Given the description of an element on the screen output the (x, y) to click on. 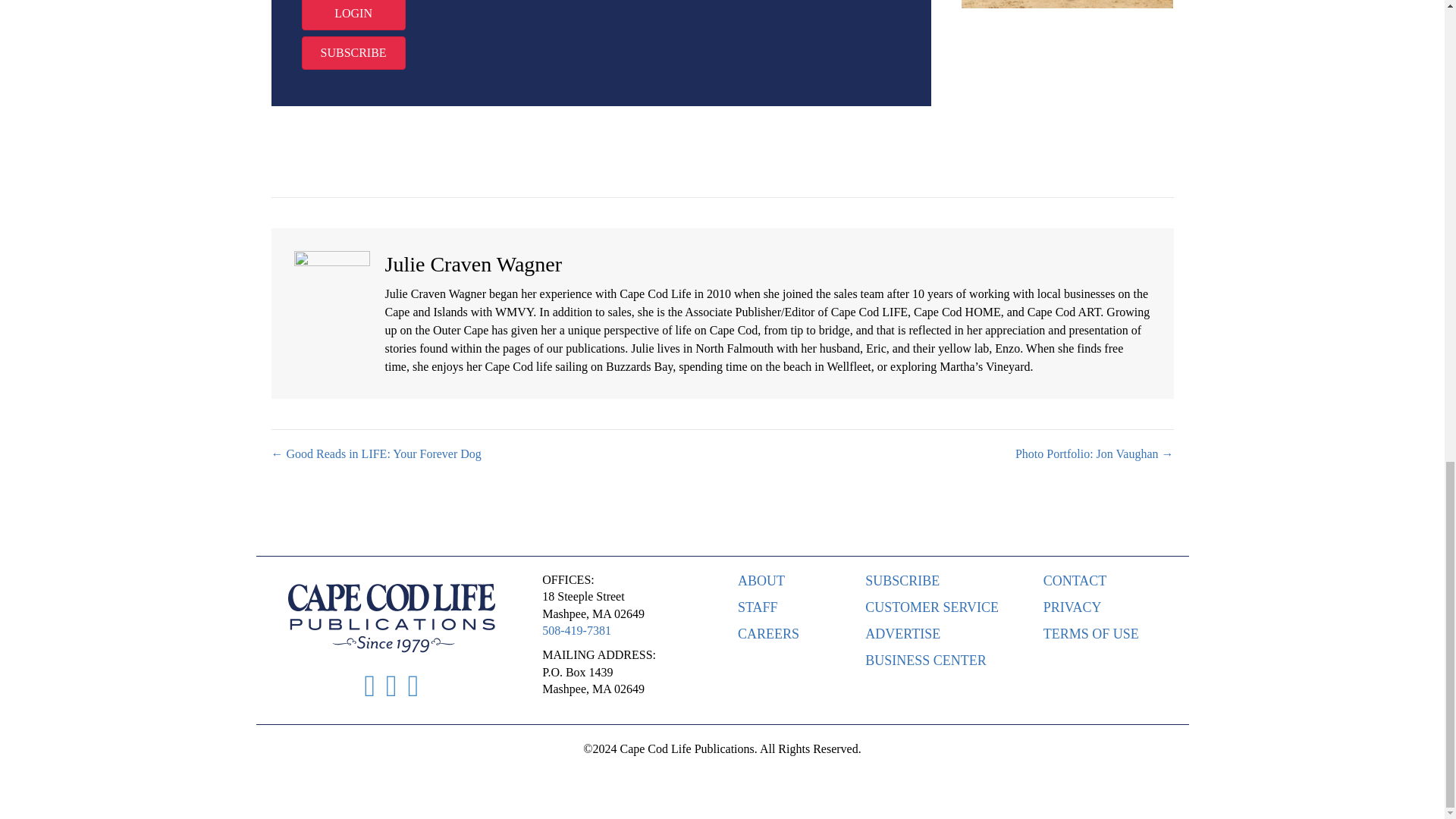
ccl-logo (391, 617)
